Given the description of an element on the screen output the (x, y) to click on. 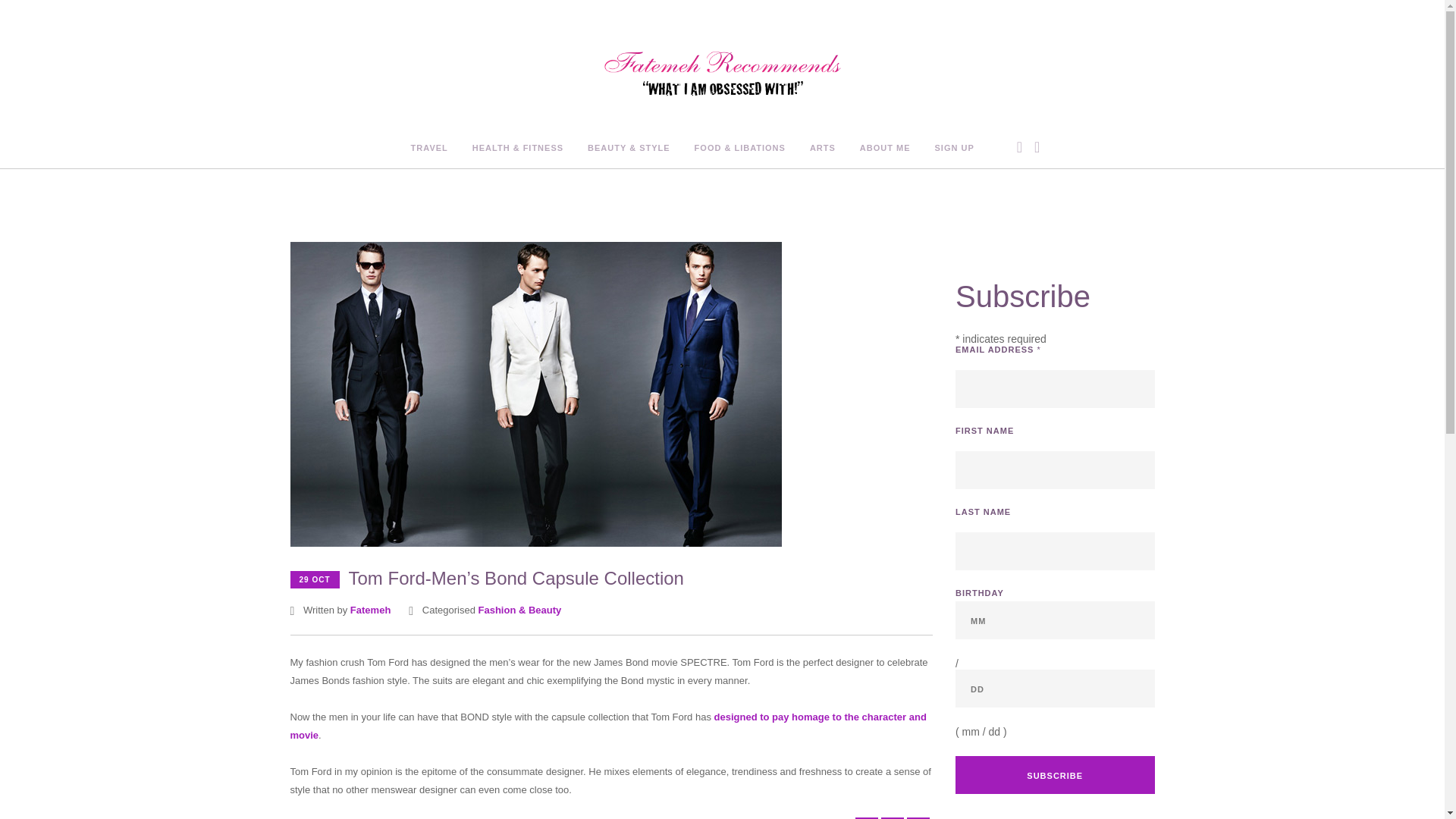
Fatemeh (370, 609)
ABOUT ME (885, 148)
Subscribe (1054, 774)
TRAVEL (429, 148)
Posts by Fatemeh (370, 609)
Subscribe (1054, 774)
SIGN UP (954, 148)
designed to pay homage to the character and movie (607, 726)
